Given the description of an element on the screen output the (x, y) to click on. 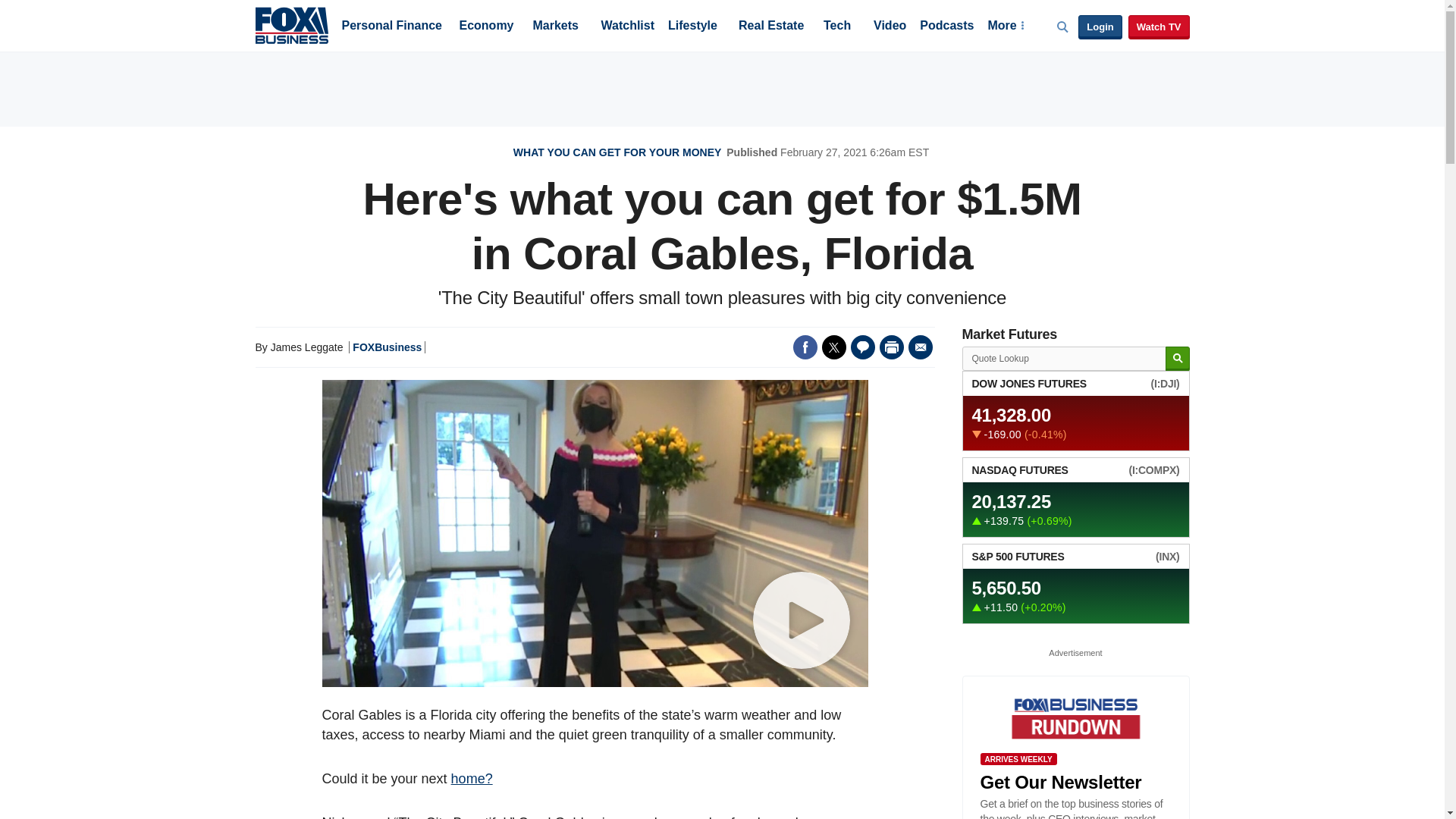
Podcasts (947, 27)
Tech (837, 27)
Video (889, 27)
Watch TV (1158, 27)
Real Estate (770, 27)
More (1005, 27)
Personal Finance (391, 27)
Fox Business (290, 24)
Watchlist (626, 27)
Markets (555, 27)
Lifestyle (692, 27)
Economy (486, 27)
Search (1176, 358)
Login (1099, 27)
Search (1176, 358)
